Given the description of an element on the screen output the (x, y) to click on. 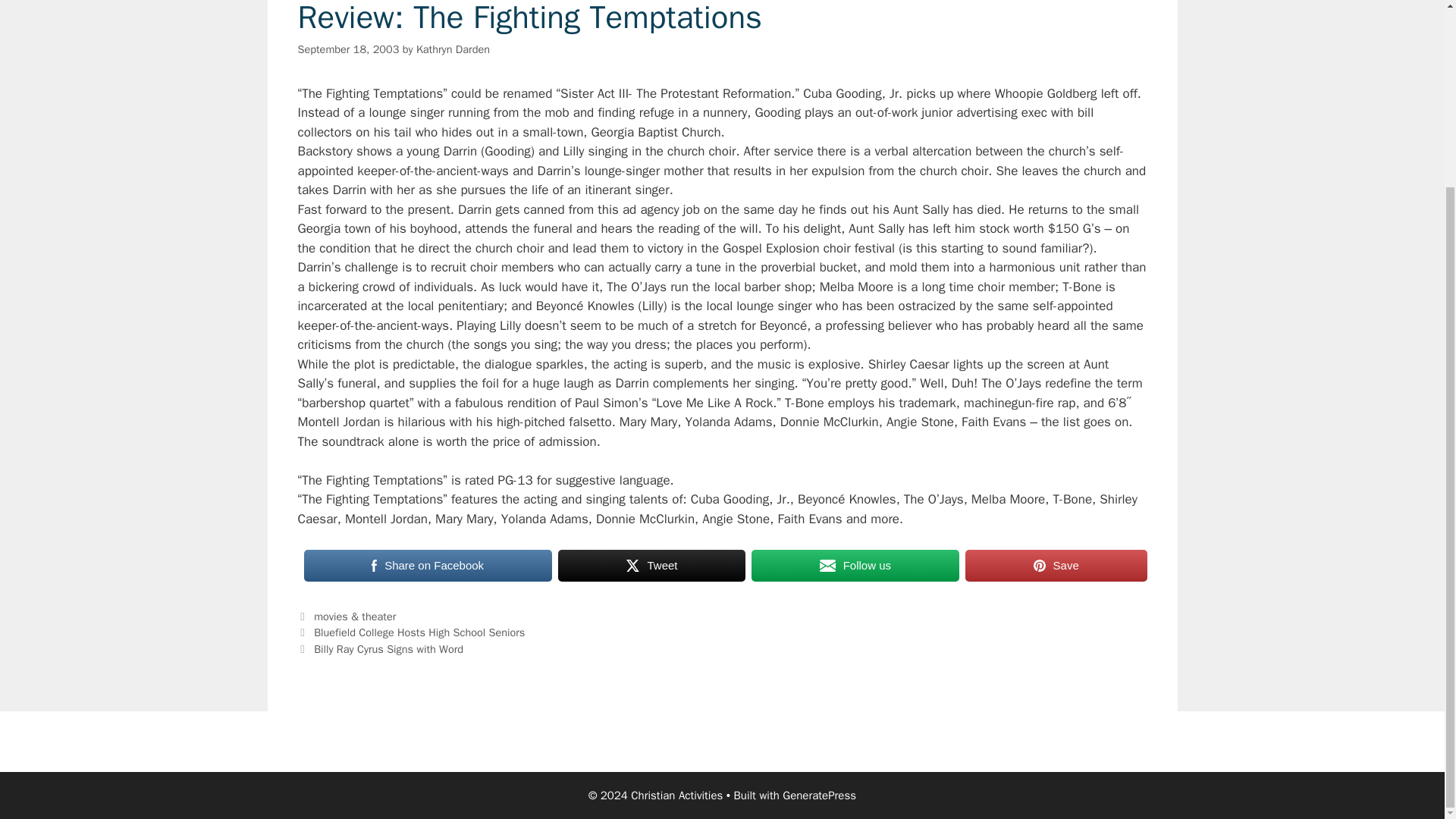
View all posts by Kathryn Darden (452, 49)
